Given the description of an element on the screen output the (x, y) to click on. 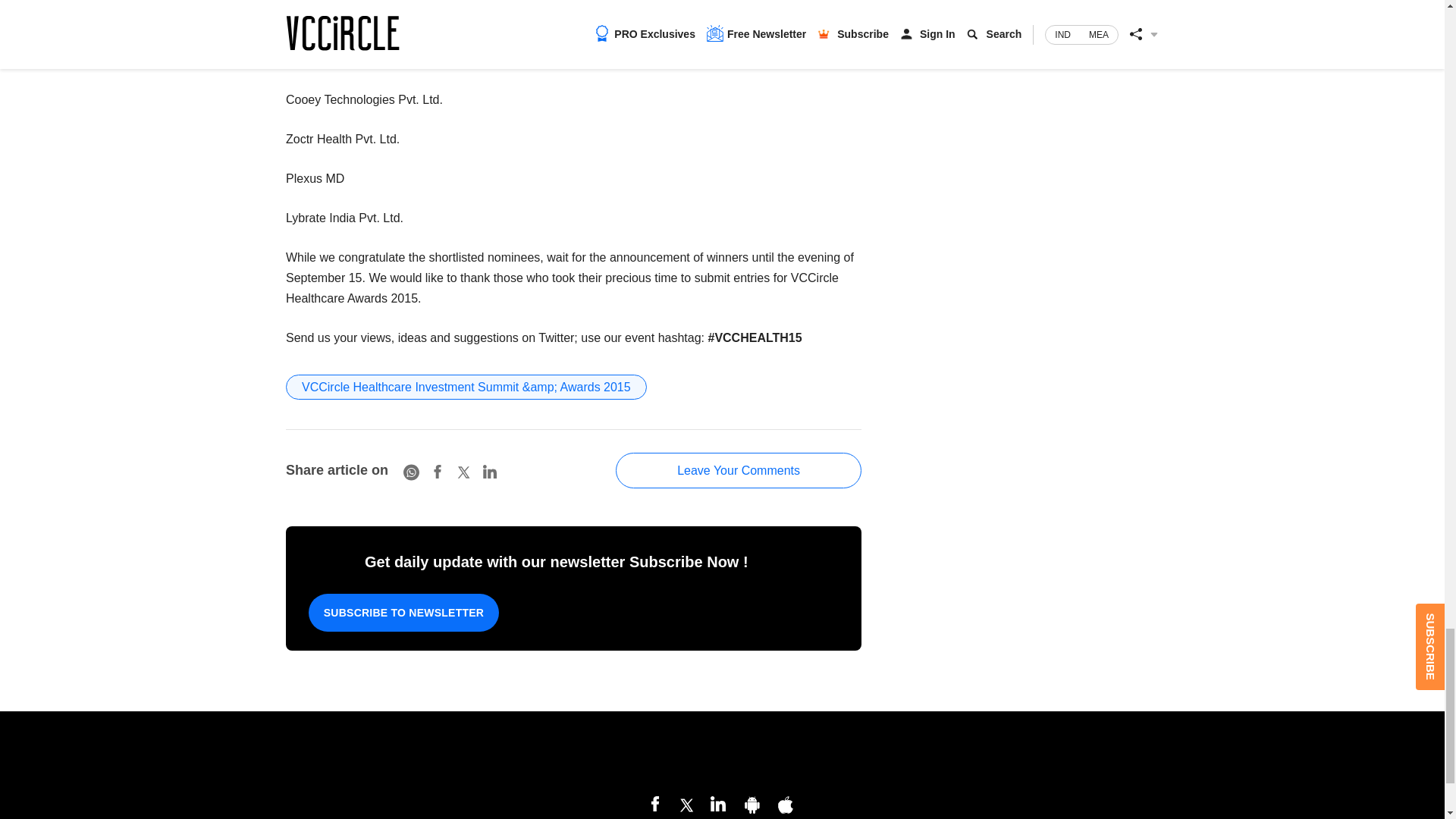
SUBSCRIBE TO NEWSLETTER (403, 612)
Mosaic Digital (721, 754)
Leave Your Comments (738, 470)
